Given the description of an element on the screen output the (x, y) to click on. 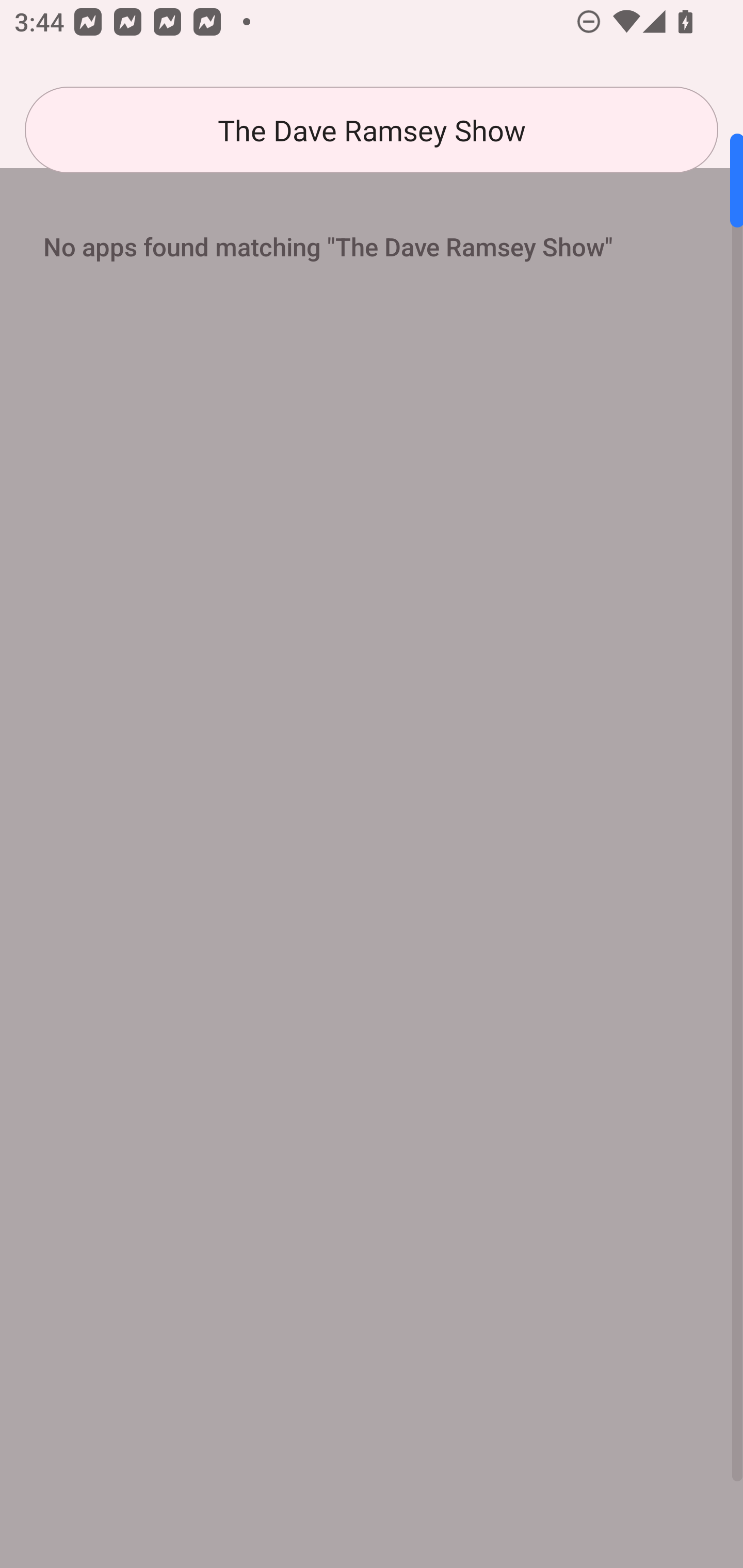
The Dave Ramsey Show (371, 130)
